Given the description of an element on the screen output the (x, y) to click on. 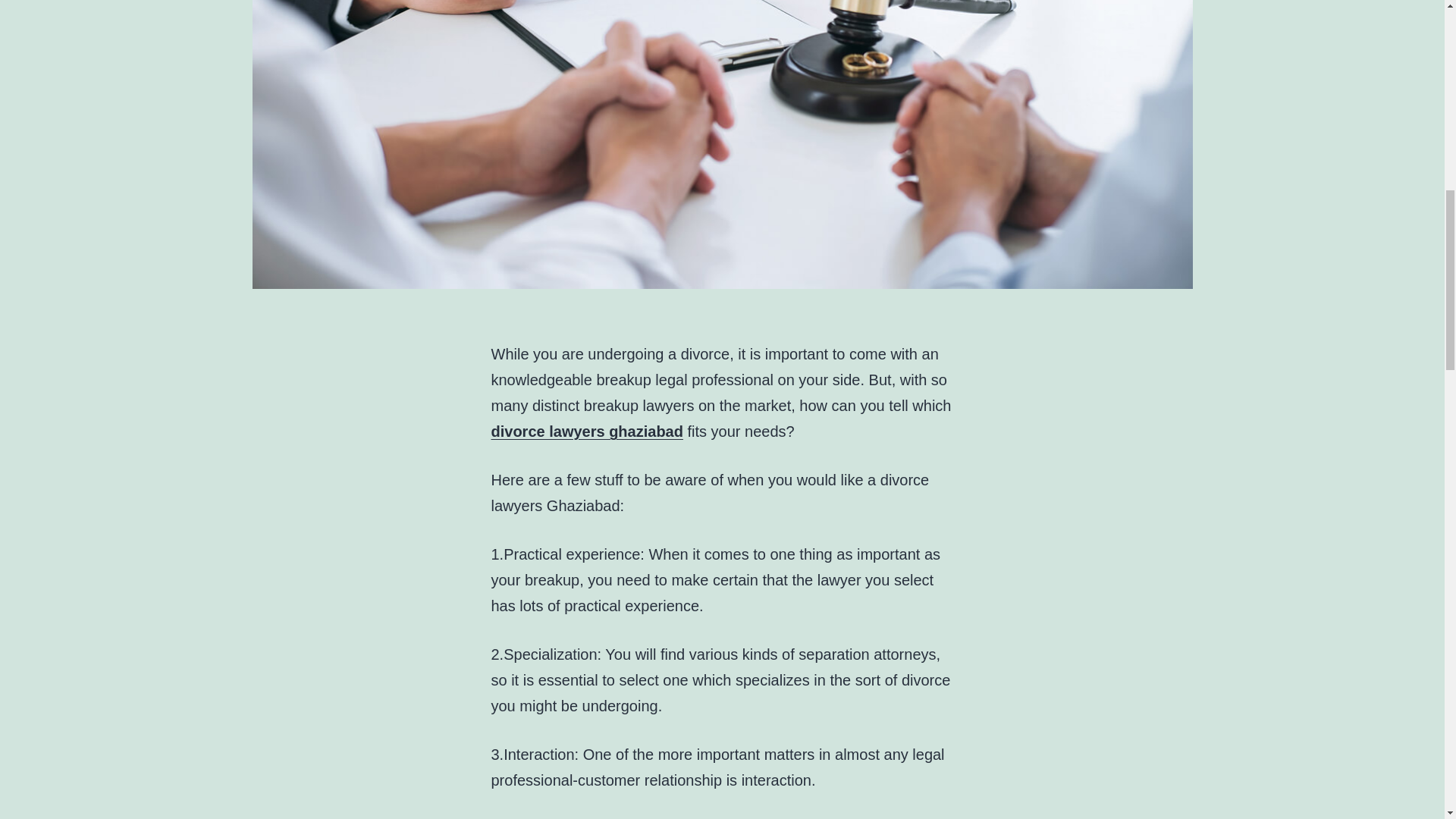
divorce lawyers ghaziabad (587, 431)
